Given the description of an element on the screen output the (x, y) to click on. 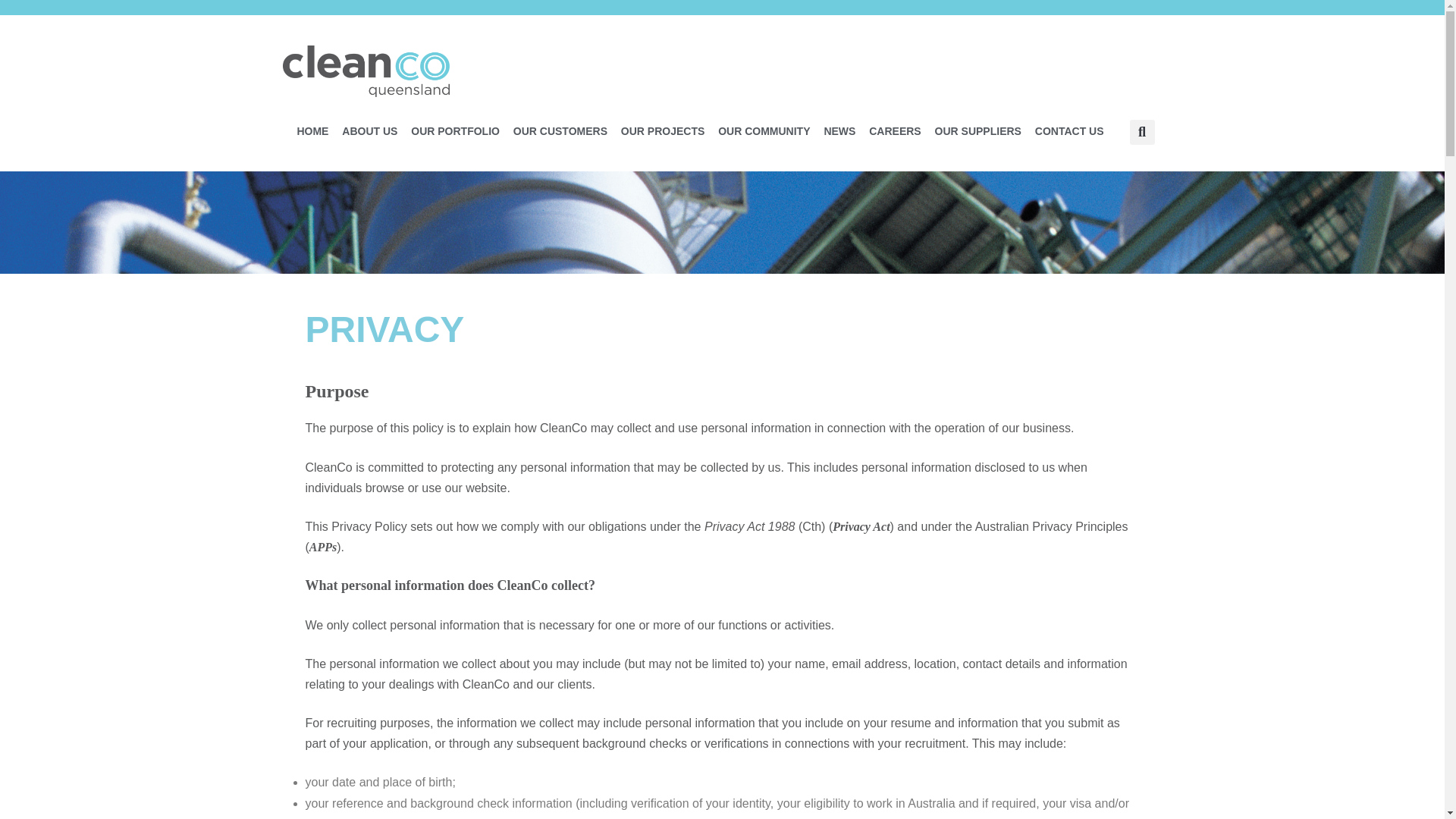
OUR CUSTOMERS (560, 130)
OUR SUPPLIERS (977, 130)
ABOUT US (369, 130)
CONTACT US (1068, 130)
CAREERS (894, 130)
OUR PORTFOLIO (455, 130)
NEWS (838, 130)
OUR PROJECTS (662, 130)
HOME (311, 130)
OUR COMMUNITY (763, 130)
